Given the description of an element on the screen output the (x, y) to click on. 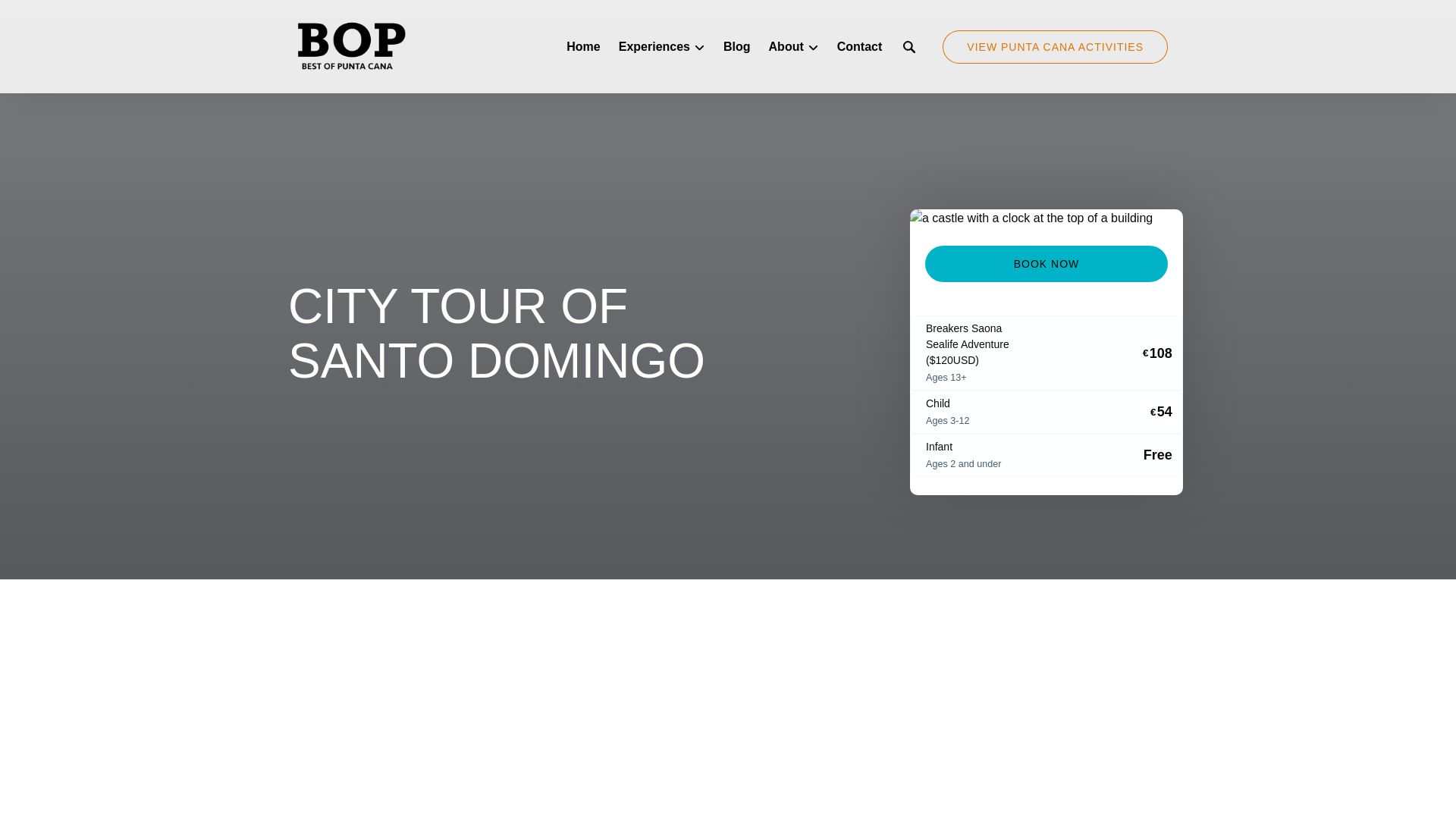
About (794, 46)
Blog (737, 46)
Experiences (662, 46)
VIEW PUNTA CANA ACTIVITIES (1054, 46)
Open About Menu (797, 42)
Skip to footer (42, 16)
BOOK NOW (1045, 263)
Home (582, 46)
Skip to content (47, 16)
Contact (859, 46)
Open Experiences Menu (665, 42)
Skip to primary navigation (77, 16)
